Given the description of an element on the screen output the (x, y) to click on. 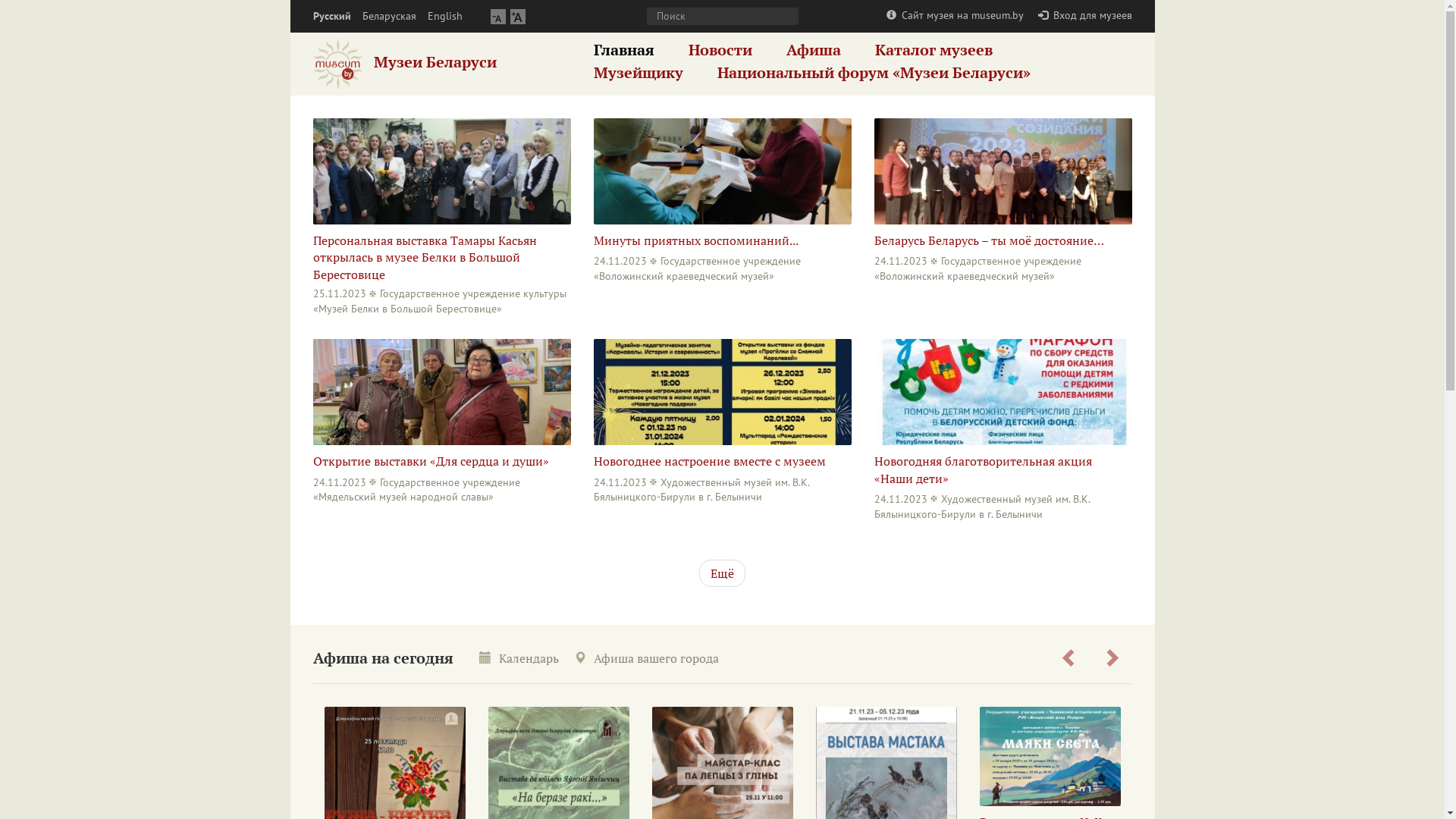
English Element type: text (444, 16)
A Element type: text (516, 16)
A Element type: text (497, 16)
